Given the description of an element on the screen output the (x, y) to click on. 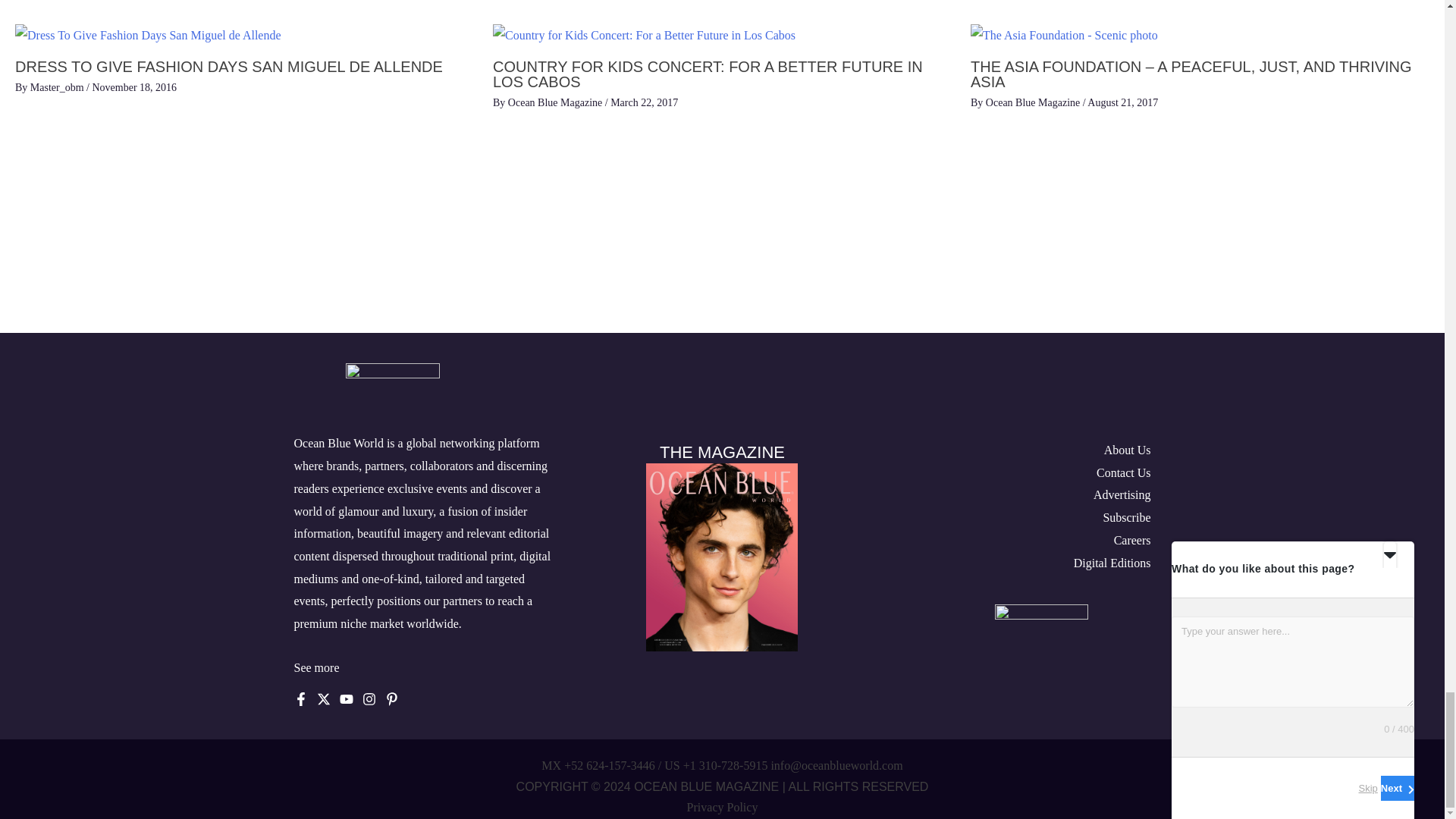
View all posts by Ocean Blue Magazine (556, 102)
View all posts by Ocean Blue Magazine (1034, 102)
